Given the description of an element on the screen output the (x, y) to click on. 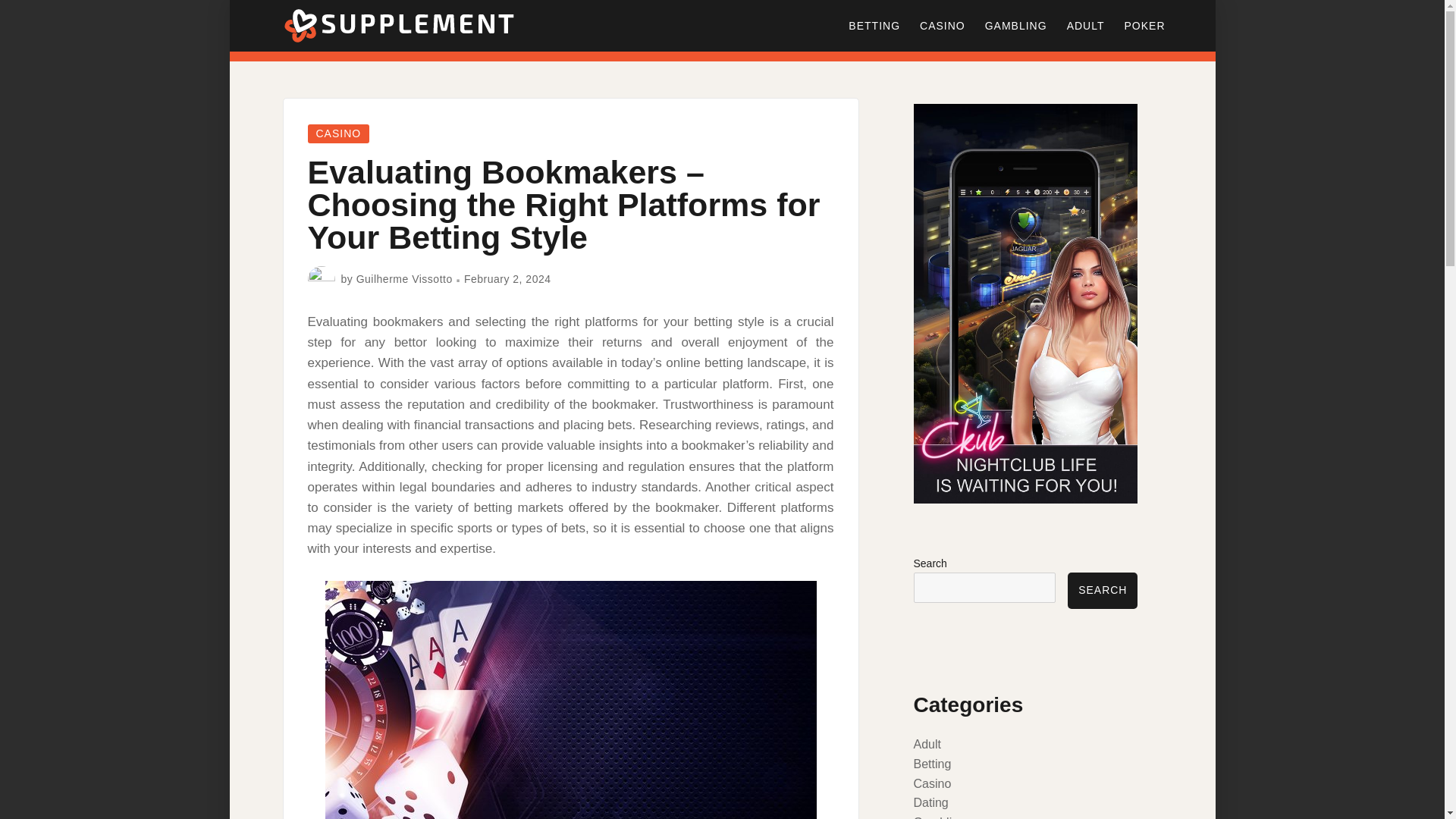
Betting (931, 763)
February 2, 2024 (507, 278)
POKER (1143, 25)
CASINO (942, 25)
Guilherme Vissotto (404, 278)
BETTING (874, 25)
GAMBLING (1016, 25)
Gambling (937, 817)
Casino (931, 783)
Adult (926, 744)
SEARCH (1102, 590)
ADULT (1086, 25)
Dating (929, 802)
CASINO (338, 133)
